Given the description of an element on the screen output the (x, y) to click on. 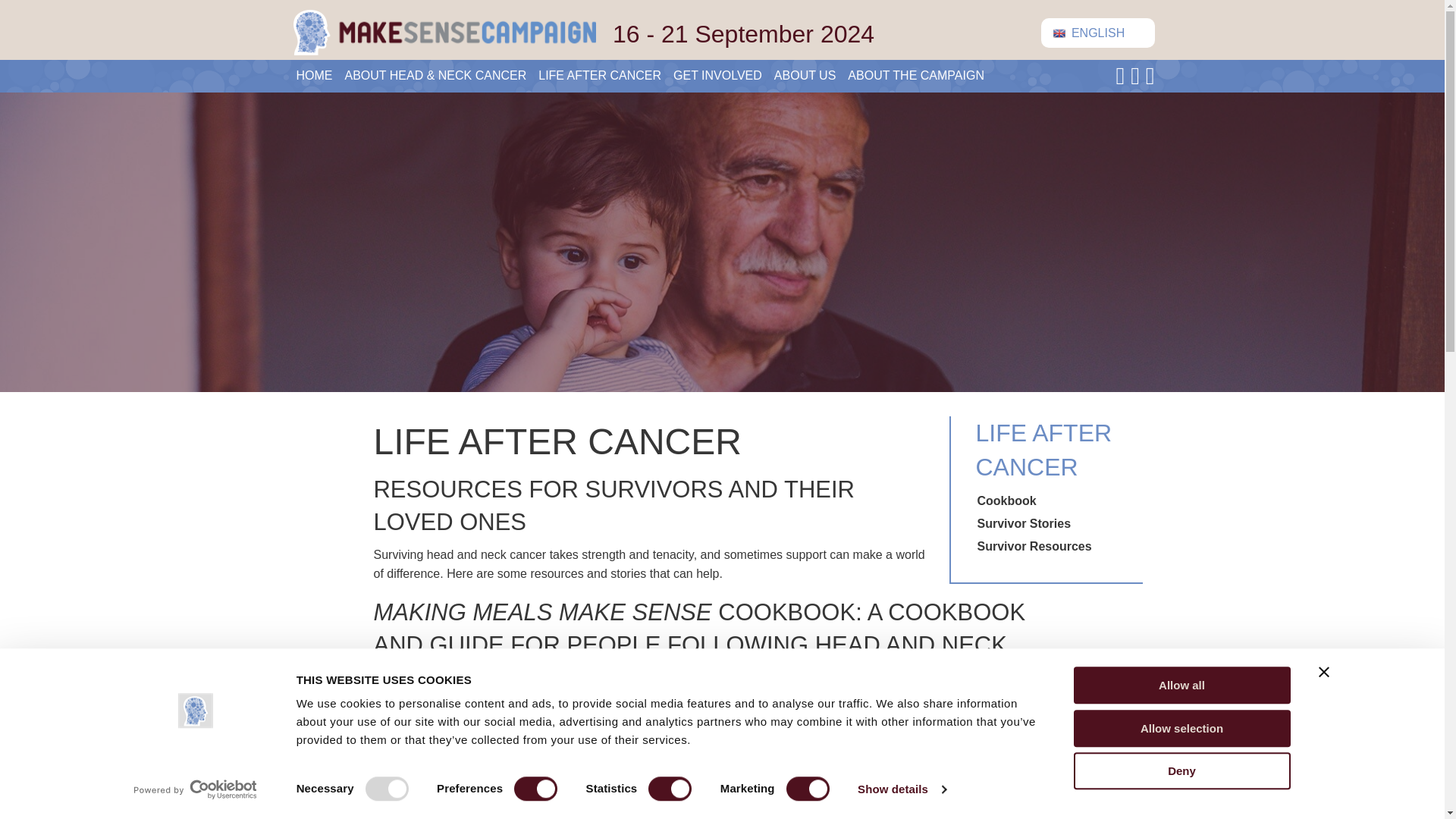
Allow selection (1182, 728)
Allow all (1182, 684)
Deny (1182, 770)
ENGLISH (1097, 32)
Show details (900, 789)
